Given the description of an element on the screen output the (x, y) to click on. 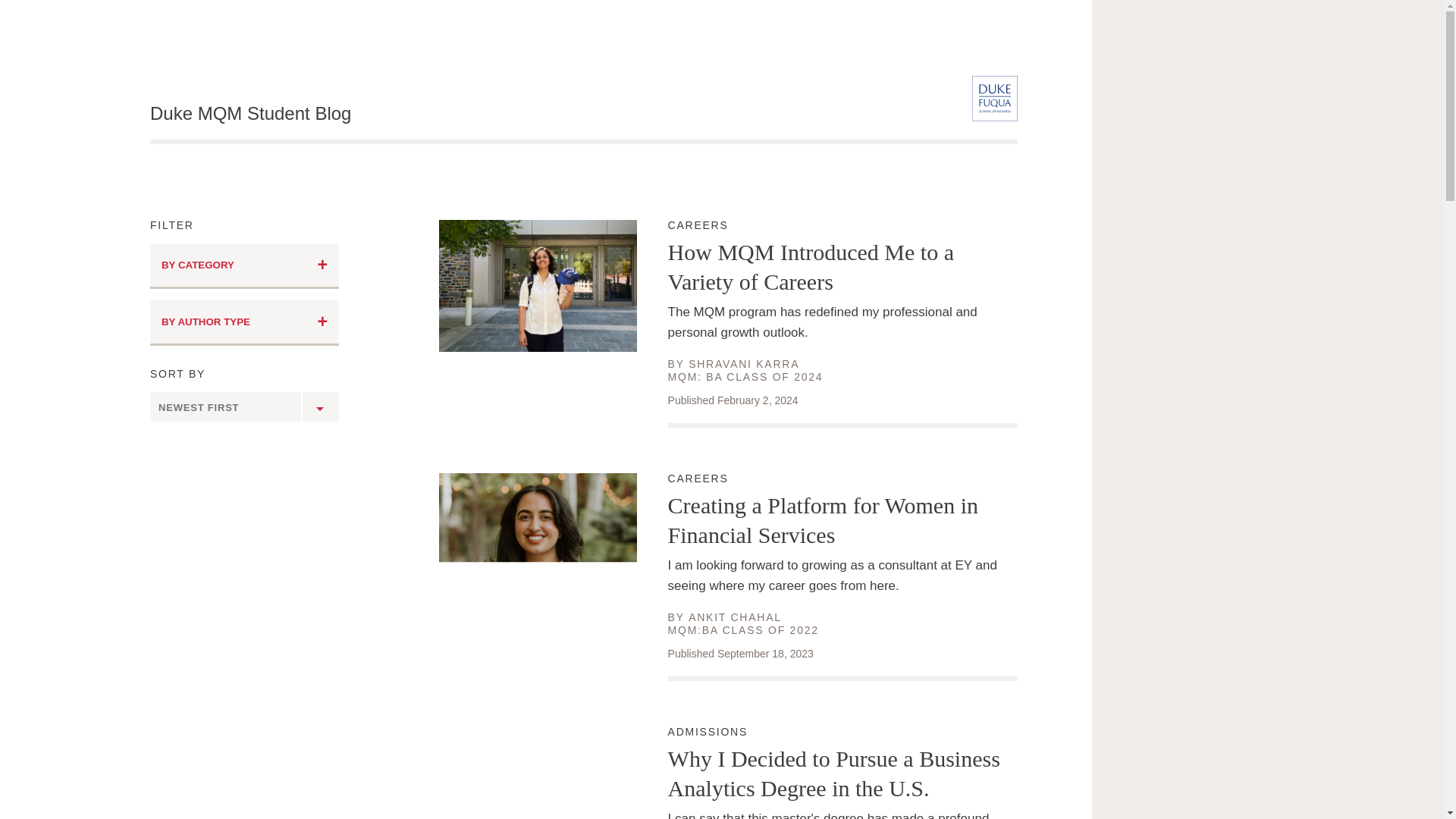
Duke MQM Student Blog (249, 113)
How MQM Introduced Me to a Variety of Careers (842, 266)
BY CATEGORY (842, 732)
BY AUTHOR TYPE (244, 266)
Creating a Platform for Women in Financial Services (244, 322)
